Given the description of an element on the screen output the (x, y) to click on. 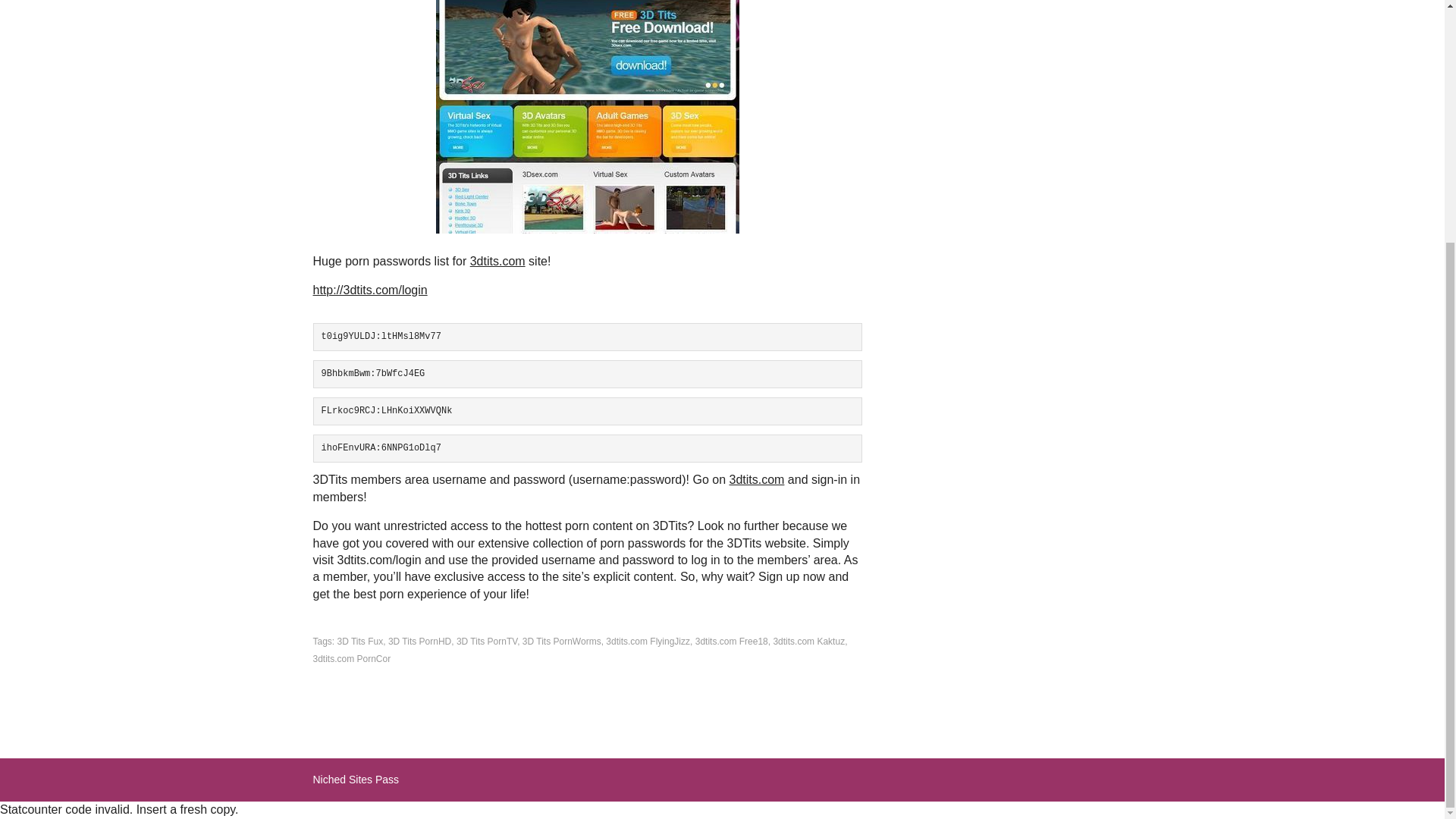
3dtits.com Kaktuz (808, 641)
3D Tits PornTV (486, 641)
3dtits.com (497, 260)
3D Tits (587, 116)
3dtits.com PornCor (351, 658)
3D Tits PornHD (419, 641)
3dtits.com FlyingJizz (647, 641)
3dtits.com Free18 (731, 641)
3dtits.com (756, 479)
3D Tits Fux (360, 641)
